Given the description of an element on the screen output the (x, y) to click on. 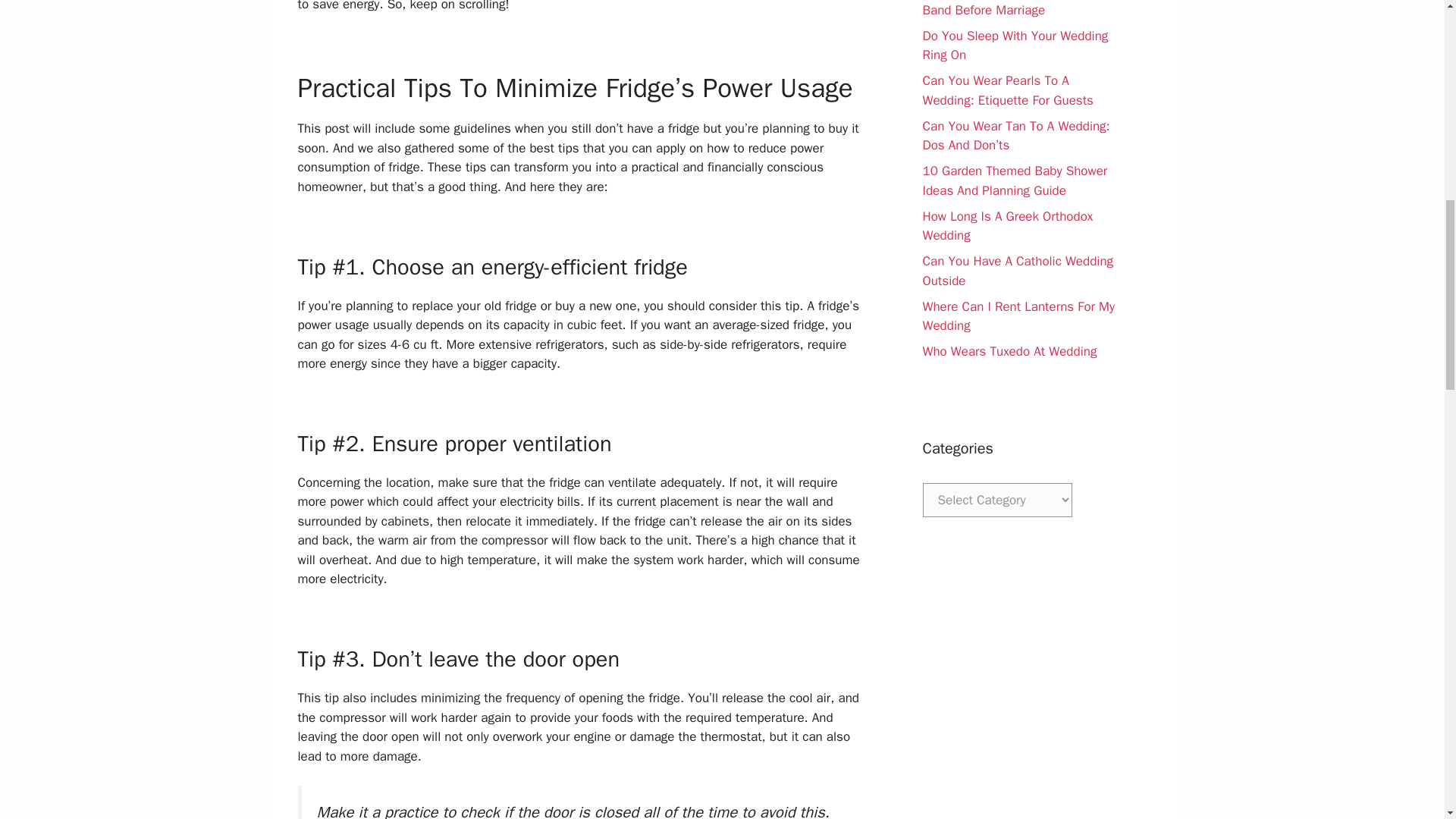
Scroll back to top (1406, 720)
